Given the description of an element on the screen output the (x, y) to click on. 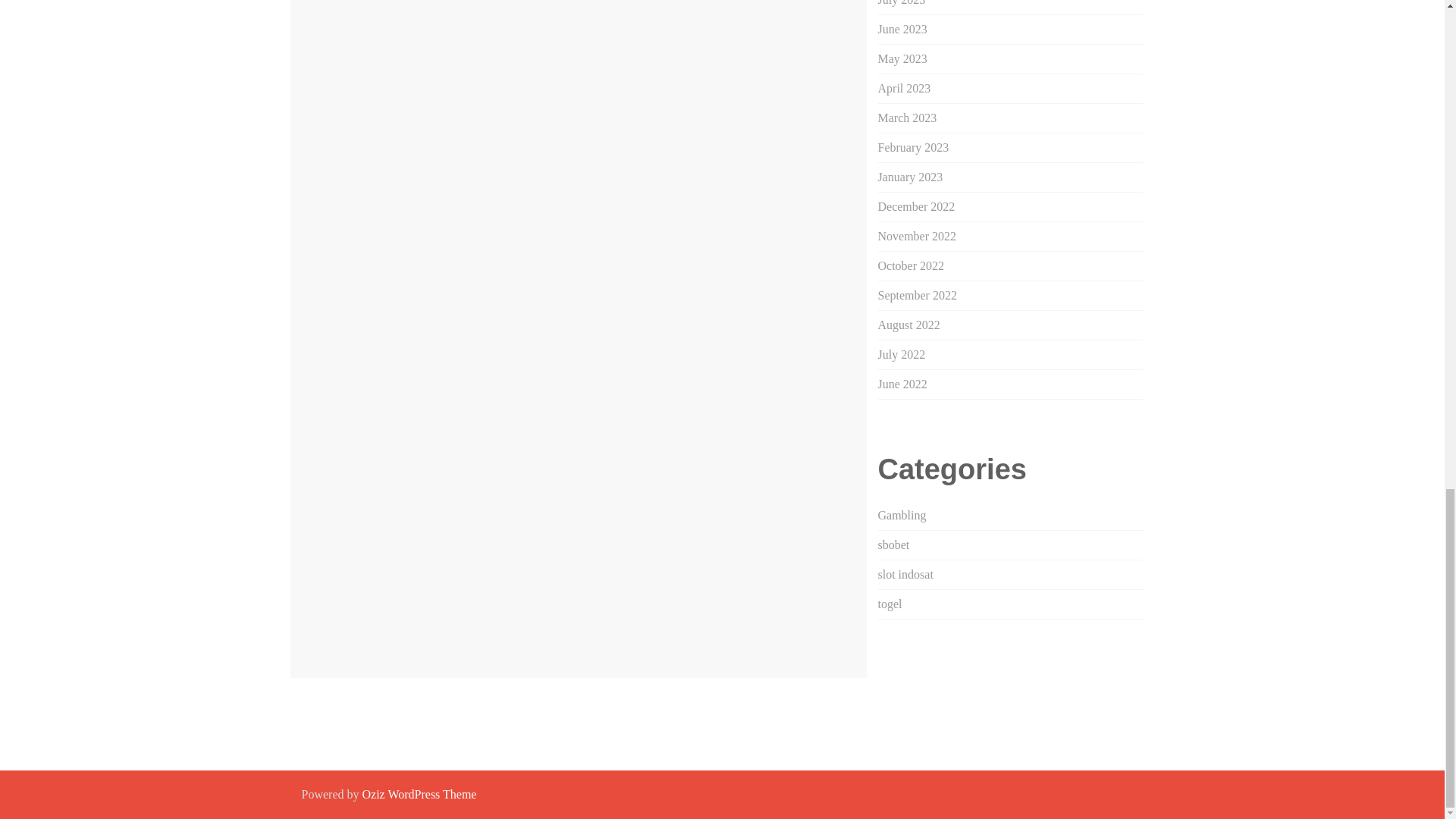
August 2022 (908, 324)
September 2022 (916, 295)
January 2023 (910, 176)
October 2022 (910, 265)
July 2023 (901, 2)
What Is a Slot? (338, 649)
The Basic Elements of a Lottery (775, 649)
February 2023 (913, 146)
May 2023 (902, 58)
April 2023 (904, 88)
